Given the description of an element on the screen output the (x, y) to click on. 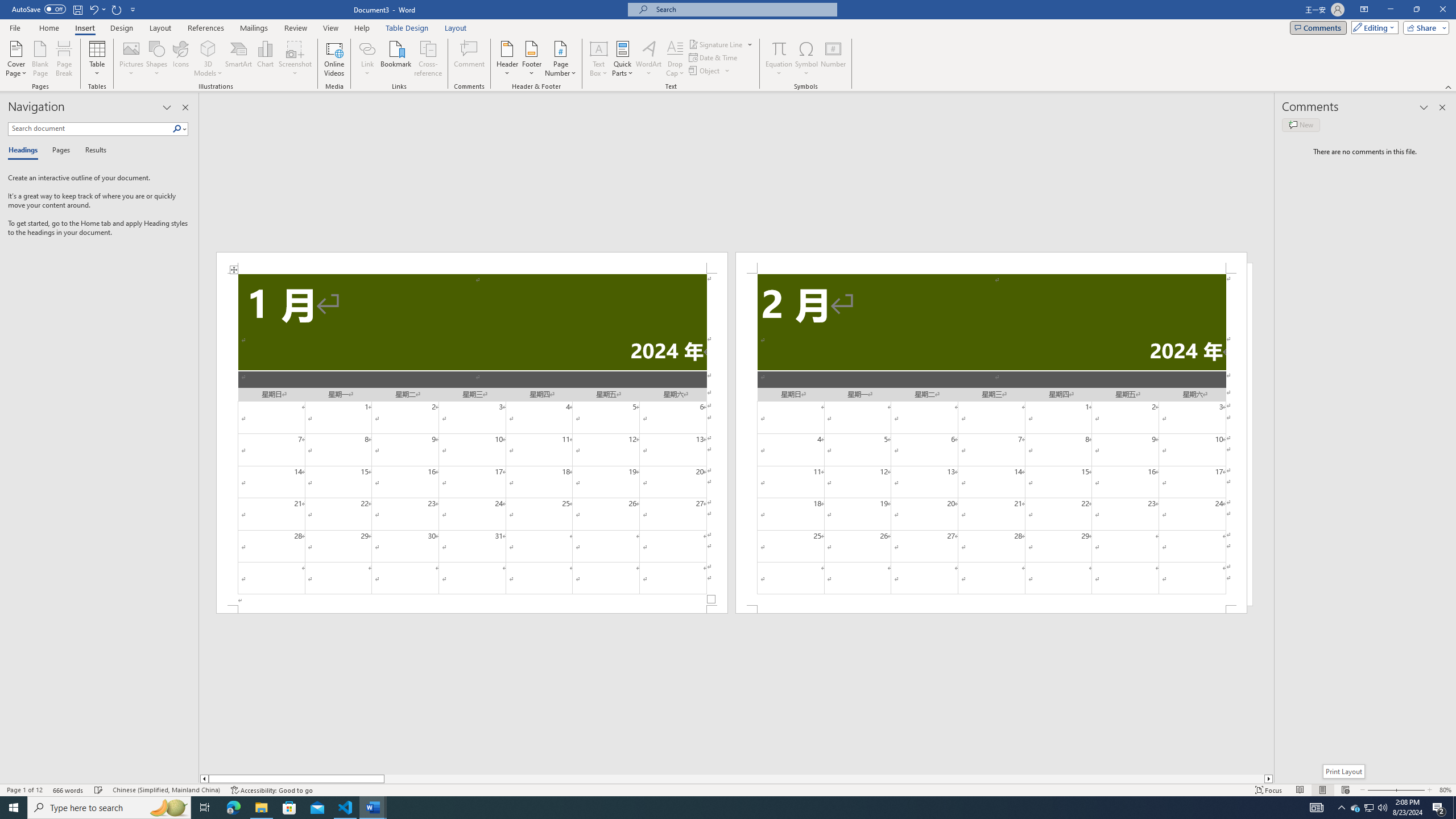
Object... (709, 69)
Signature Line (716, 44)
Review (295, 28)
Headings (25, 150)
Layout (455, 28)
Footer -Section 1- (471, 609)
3D Models (208, 58)
New comment (1300, 124)
Screenshot (295, 58)
Collapse the Ribbon (1448, 86)
Text Box (598, 58)
Print Layout (1344, 771)
Save (77, 9)
Page 2 content (991, 439)
Pictures (131, 58)
